Given the description of an element on the screen output the (x, y) to click on. 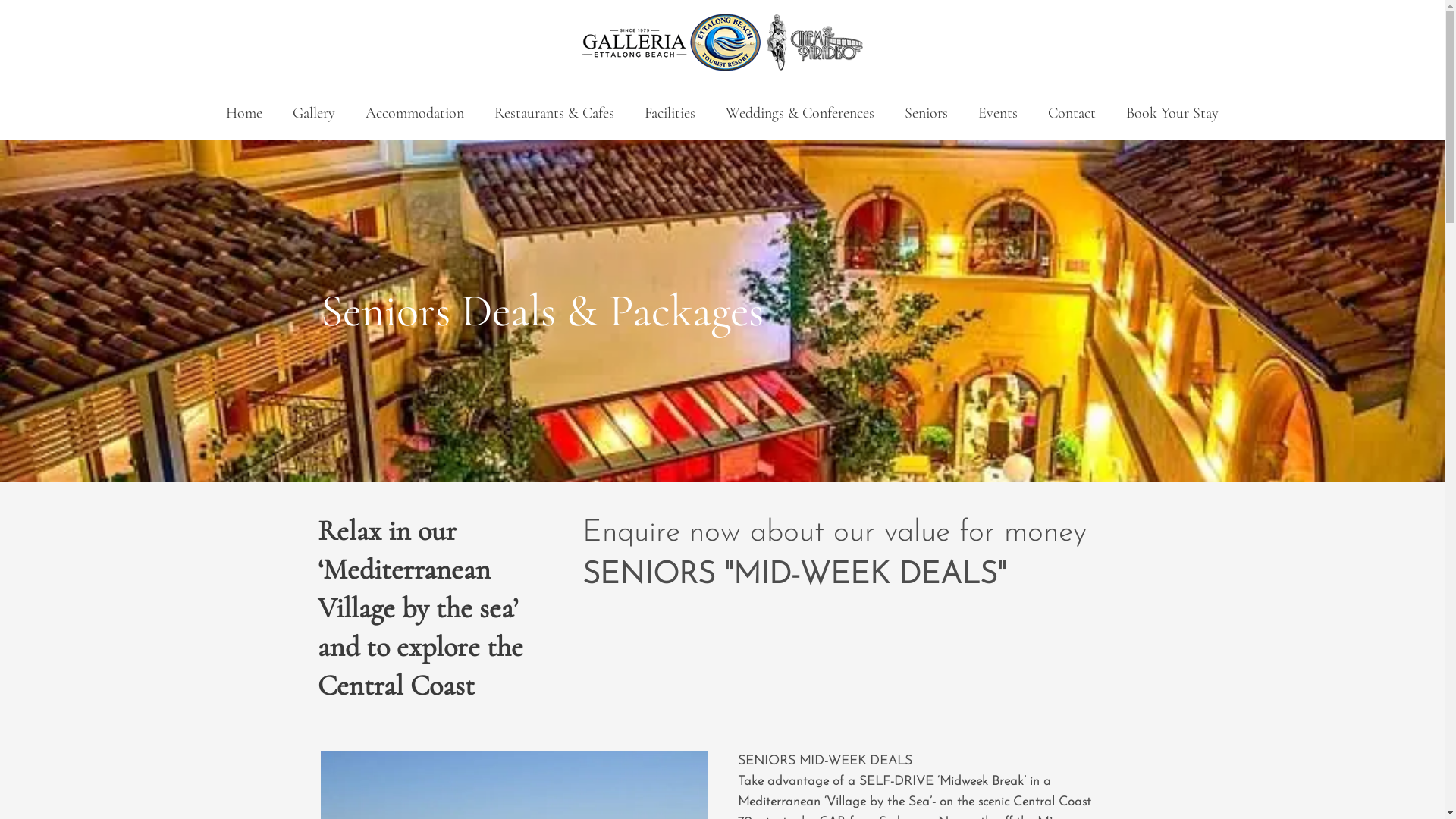
Book Your Stay Element type: text (1171, 112)
Facilities Element type: text (669, 112)
Weddings & Conferences Element type: text (799, 112)
Accommodation Element type: text (414, 112)
Contact Element type: text (1071, 112)
Seniors Element type: text (926, 112)
Home Element type: text (243, 112)
Gallery Element type: text (313, 112)
Restaurants & Cafes Element type: text (554, 112)
Events Element type: text (997, 112)
